Given the description of an element on the screen output the (x, y) to click on. 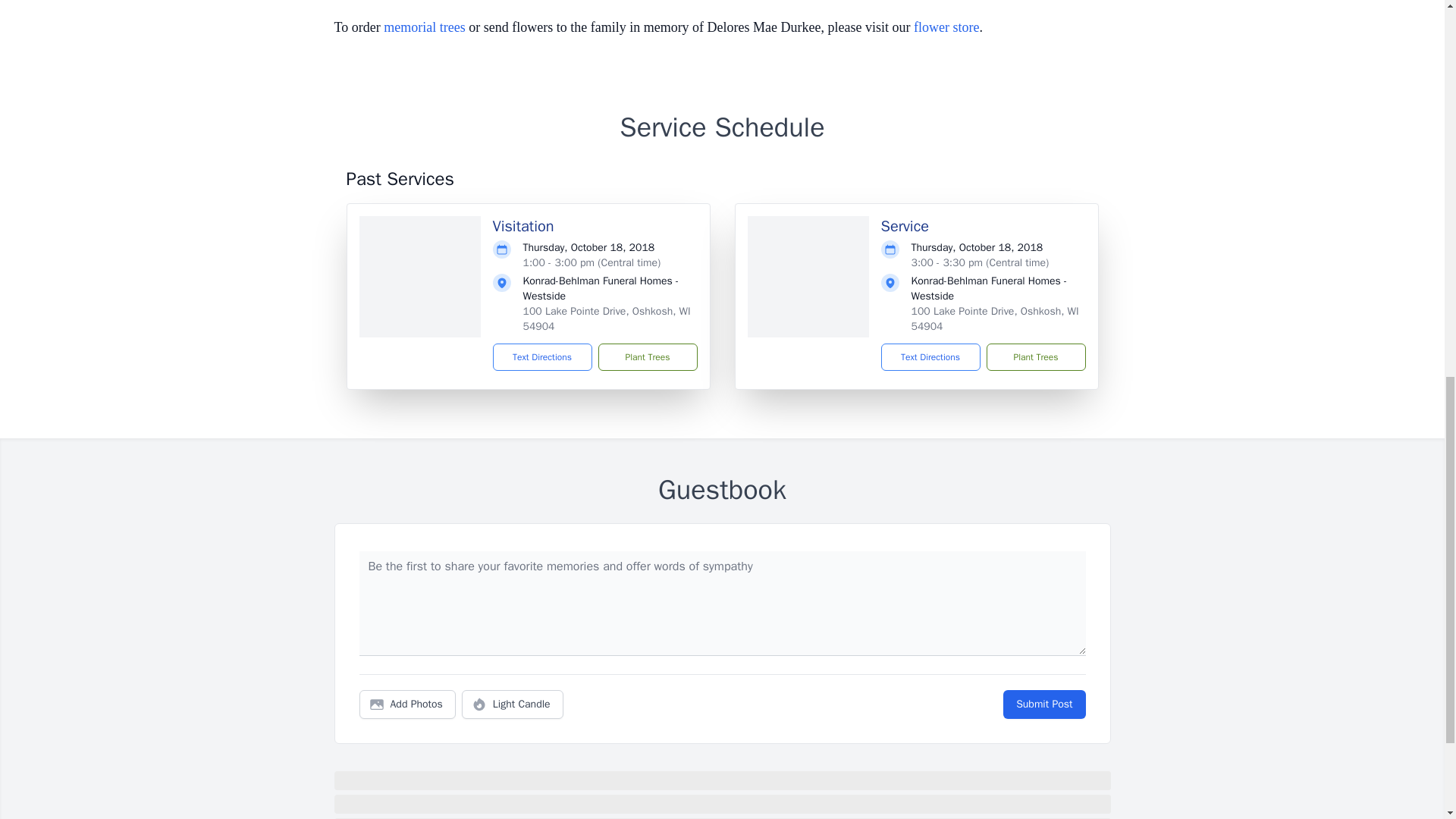
Light Candle (512, 704)
Submit Post (1043, 704)
100 Lake Pointe Drive, Oshkosh, WI 54904 (994, 318)
100 Lake Pointe Drive, Oshkosh, WI 54904 (606, 318)
Add Photos (407, 704)
Plant Trees (646, 357)
memorial trees (424, 27)
Text Directions (929, 357)
Plant Trees (1034, 357)
Text Directions (542, 357)
